Given the description of an element on the screen output the (x, y) to click on. 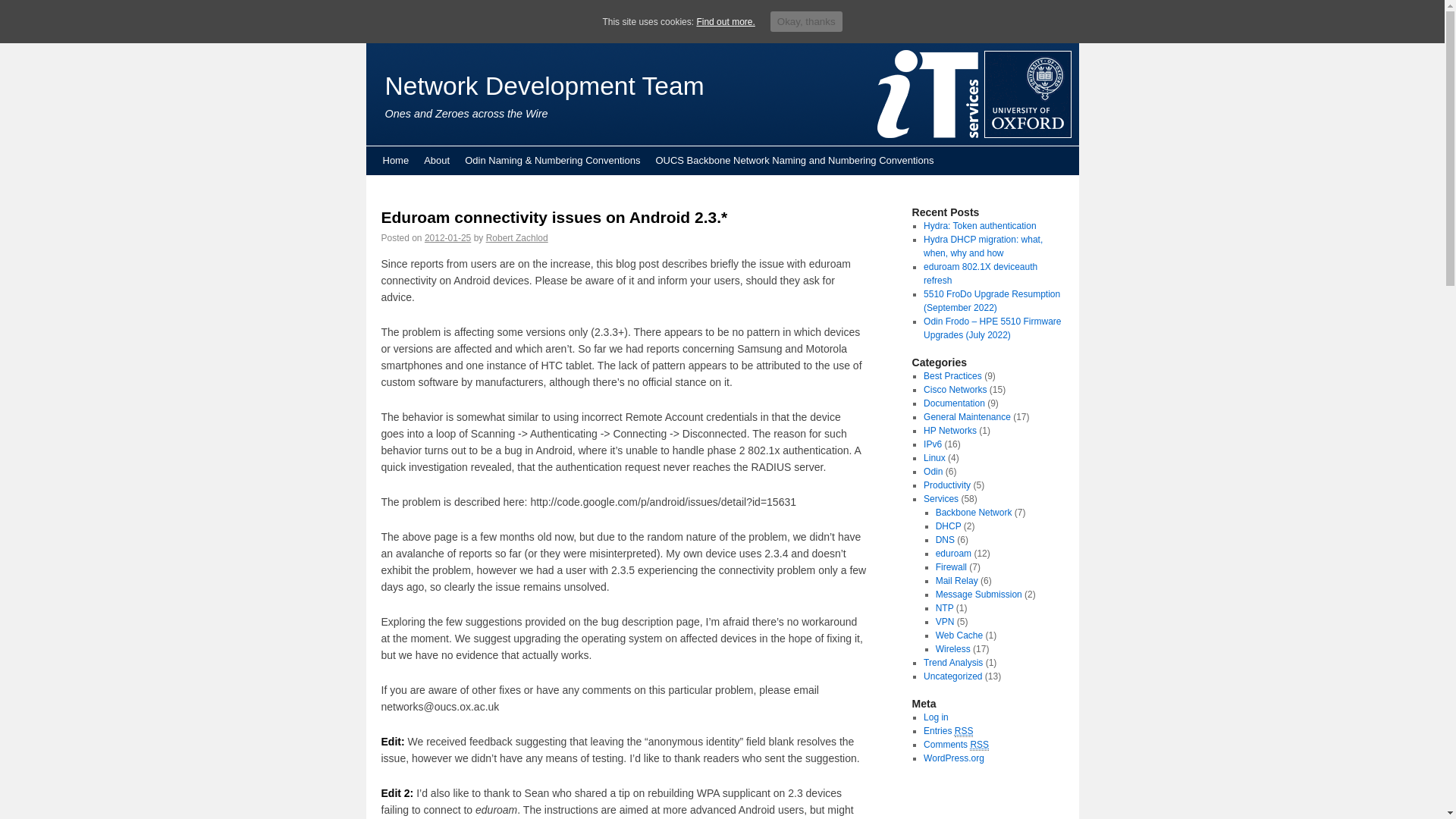
General Maintenance (966, 416)
IPv6 (932, 443)
DHCP (948, 525)
Home (395, 160)
Really Simple Syndication (964, 731)
Robert Zachlod (517, 236)
Hydra DHCP migration: what, when, why and how (982, 246)
Linux (933, 457)
DNS (945, 539)
Backbone Network (973, 511)
OUCS Backbone Network Naming and Numbering Conventions (793, 160)
Cisco Networks (955, 389)
Really Simple Syndication (978, 745)
About (436, 160)
